Given the description of an element on the screen output the (x, y) to click on. 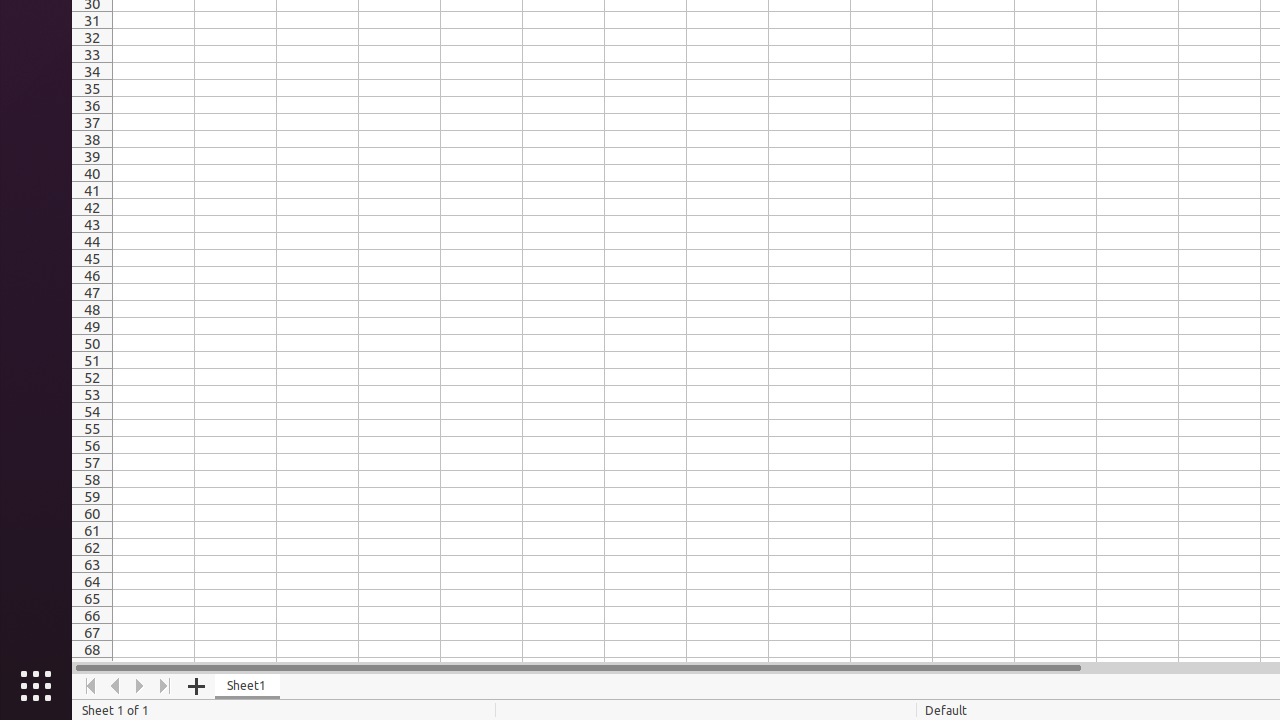
Sheet1 Element type: page-tab (247, 686)
Move To Home Element type: push-button (90, 686)
Move Right Element type: push-button (140, 686)
Move To End Element type: push-button (165, 686)
Move Left Element type: push-button (115, 686)
